Given the description of an element on the screen output the (x, y) to click on. 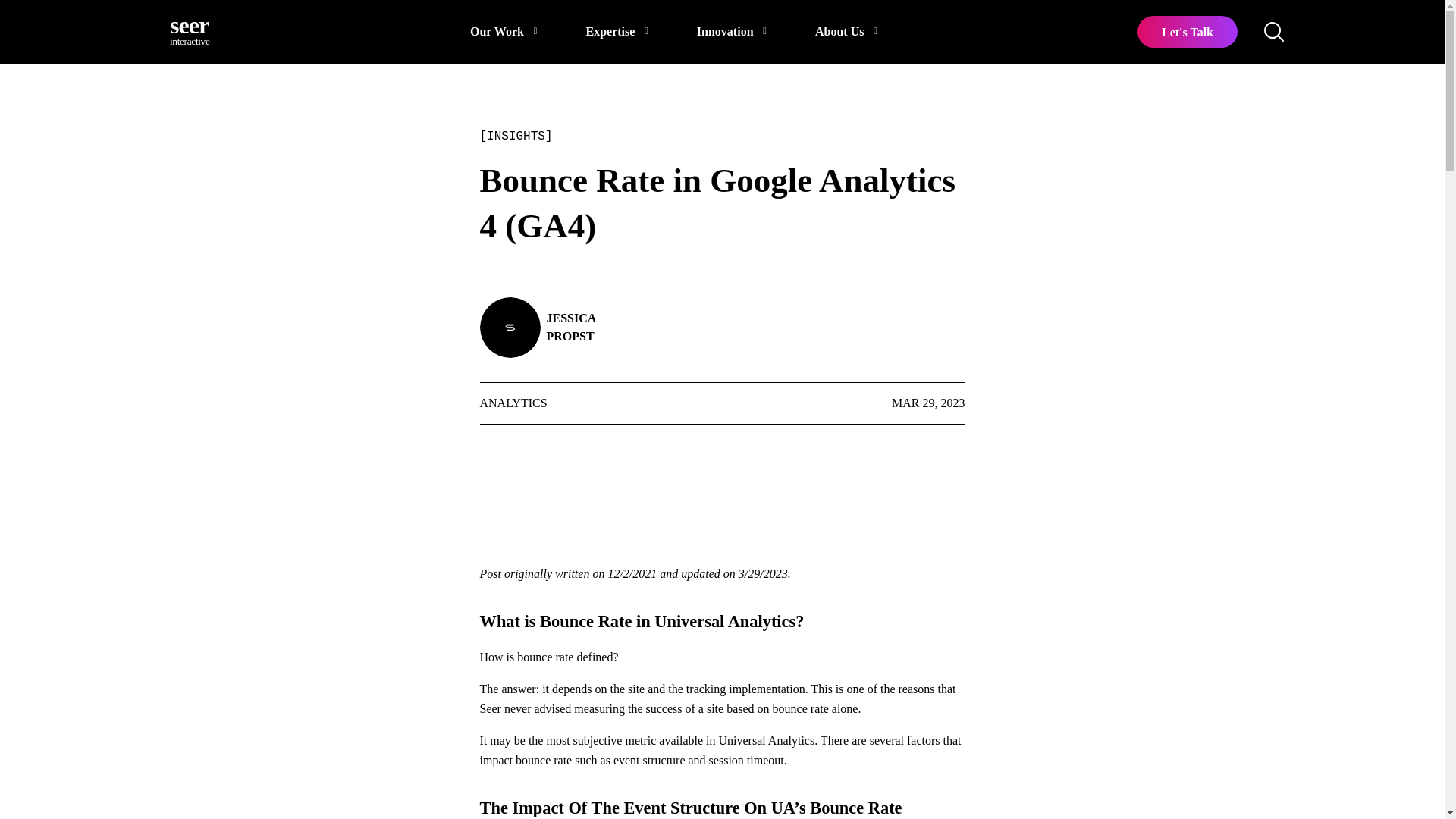
ANALYTICS (513, 402)
Innovation (732, 31)
Our Work (503, 31)
Home (196, 31)
About Us (846, 31)
Let's Talk (570, 327)
Jessica Propst (196, 31)
